Given the description of an element on the screen output the (x, y) to click on. 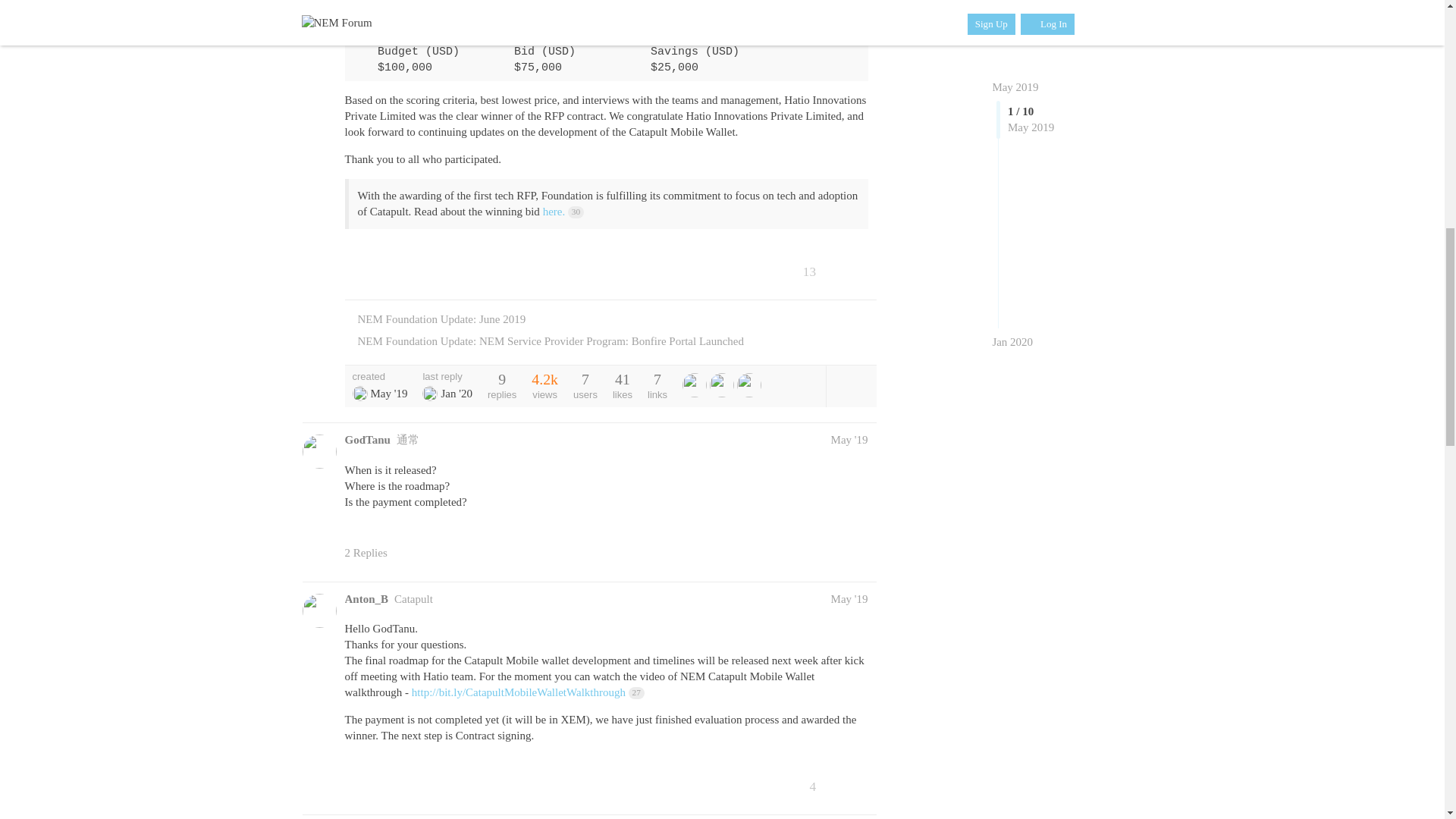
like this post (829, 271)
last reply (446, 376)
2 Replies (371, 552)
share a link to this post (860, 271)
GodTanu (366, 439)
May 10, 2019 7:57 am (388, 393)
here. 30 (563, 211)
NEM Secretariat Office (359, 393)
May '19 (849, 439)
